Given the description of an element on the screen output the (x, y) to click on. 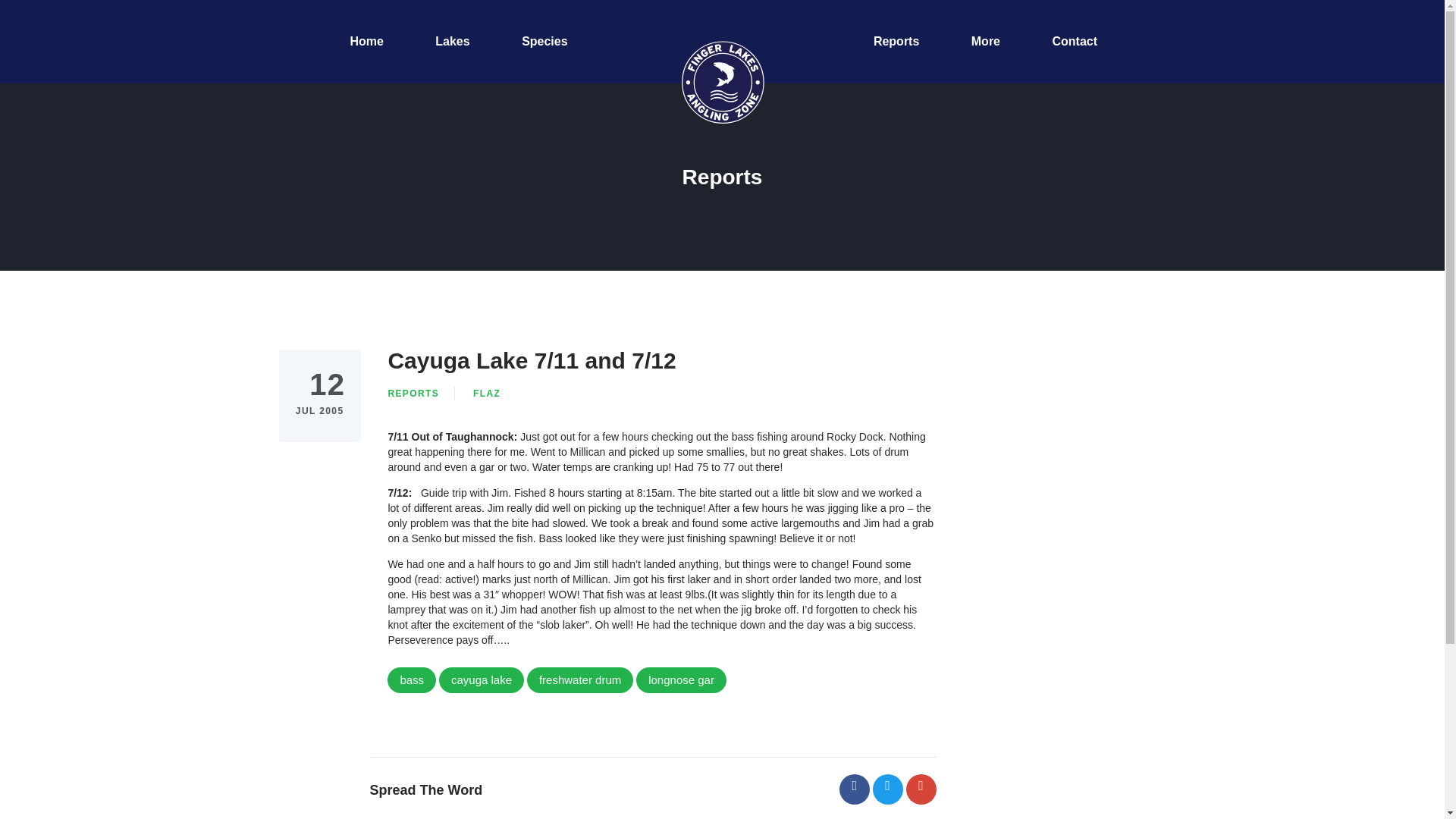
Contact (1074, 41)
bass (411, 679)
Posts by FLAZ (486, 393)
FLAZ (486, 393)
cayuga lake (481, 679)
freshwater drum (580, 679)
Lakes (451, 41)
More (986, 41)
Species (544, 41)
Home (365, 41)
Finger Lakes Angling Zone (722, 81)
longnose gar (681, 679)
Reports (895, 41)
REPORTS (413, 393)
